Given the description of an element on the screen output the (x, y) to click on. 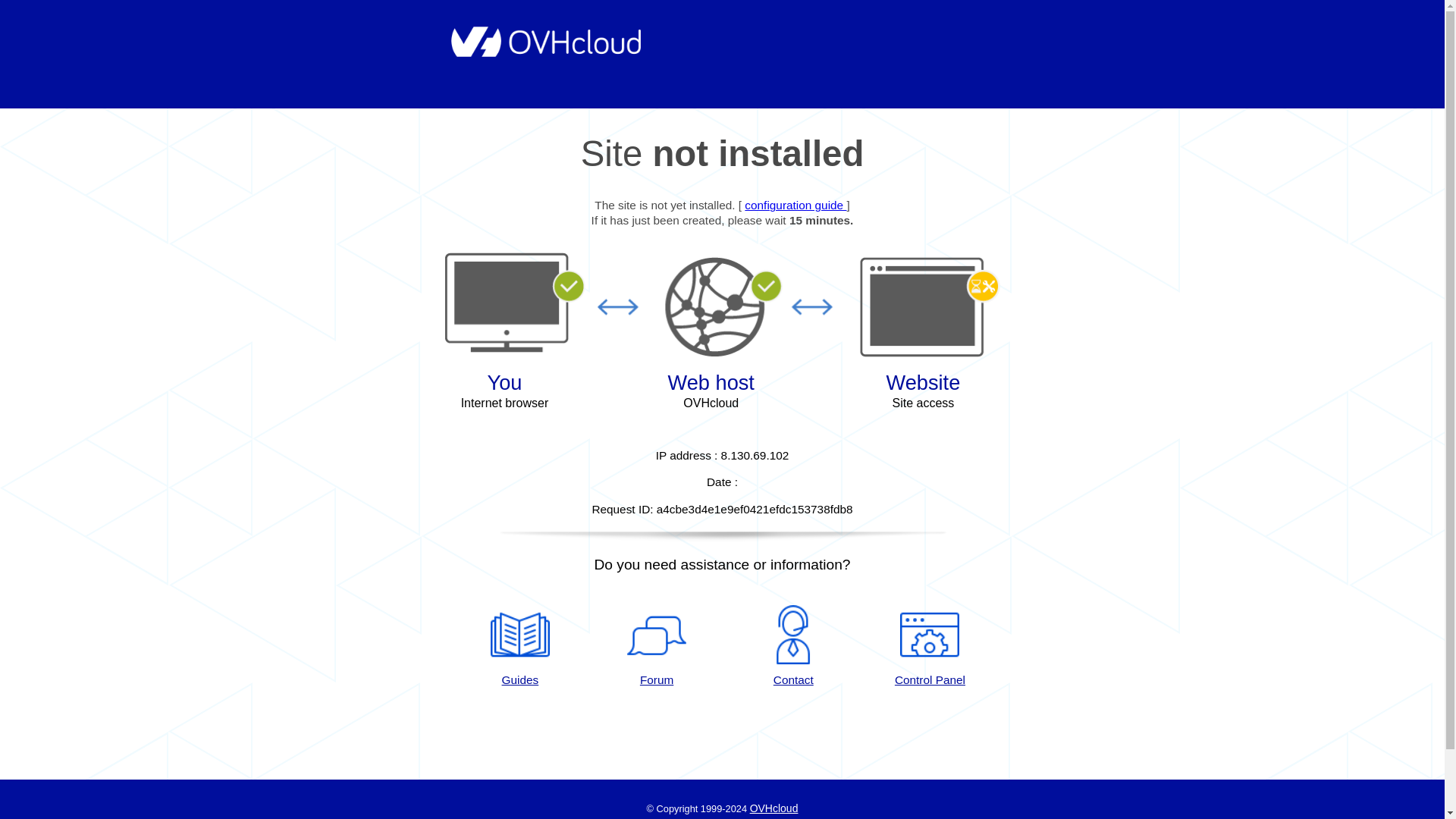
Guides (794, 205)
Guides (519, 646)
Control Panel (930, 646)
Contact (793, 646)
configuration guide (794, 205)
Guides (519, 646)
Control Panel (930, 646)
Forum (656, 646)
OVHcloud (773, 808)
Contact (793, 646)
Forum (656, 646)
